Given the description of an element on the screen output the (x, y) to click on. 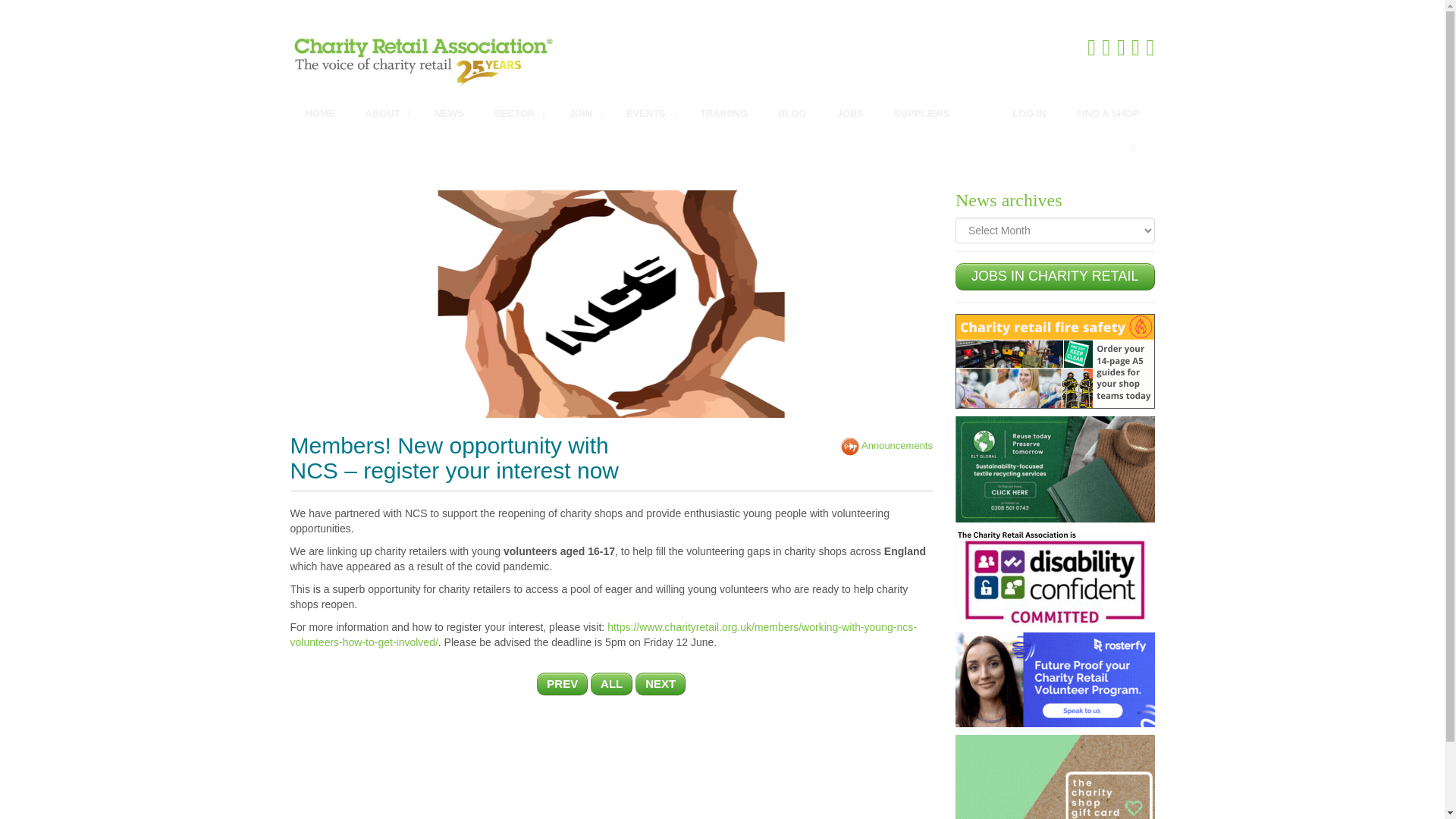
Charity Retail Association (499, 59)
ELT Global (1054, 468)
ABOUT (384, 113)
EVENTS (647, 113)
Rosterfy (1054, 678)
SECTOR (516, 113)
HOME (319, 113)
TRAINING (723, 113)
The Charity Shop Gift Card (1054, 780)
NEWS (449, 113)
Charity Retail Fire Safety guides (1054, 359)
CRA is Disability Confident committed (1054, 576)
